Given the description of an element on the screen output the (x, y) to click on. 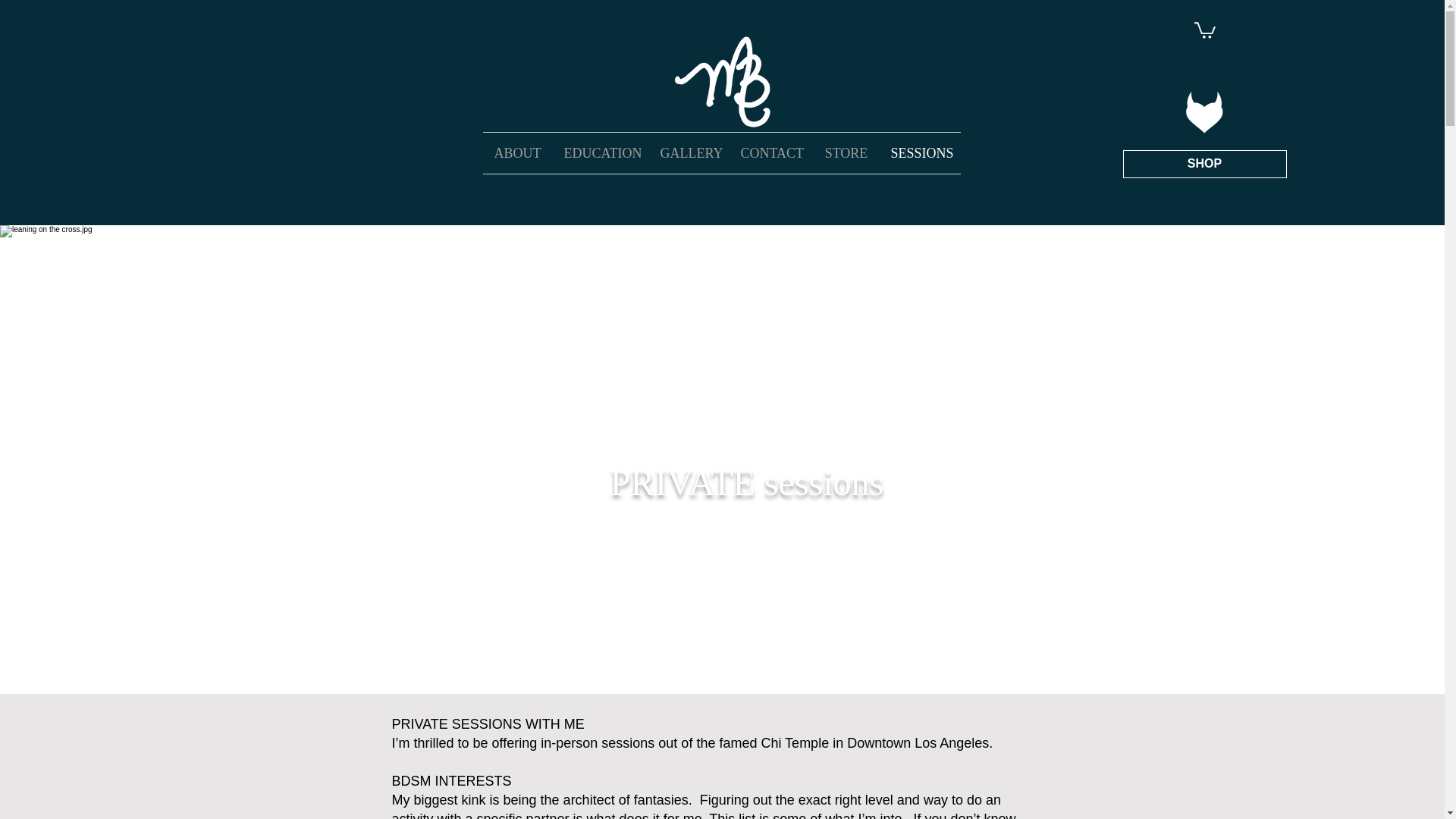
GALLERY (689, 151)
EDUCATION (599, 151)
SHOP (1203, 163)
STORE (845, 151)
SESSIONS (919, 151)
CONTACT (771, 151)
MB white.png (721, 83)
ABOUT (516, 151)
